Given the description of an element on the screen output the (x, y) to click on. 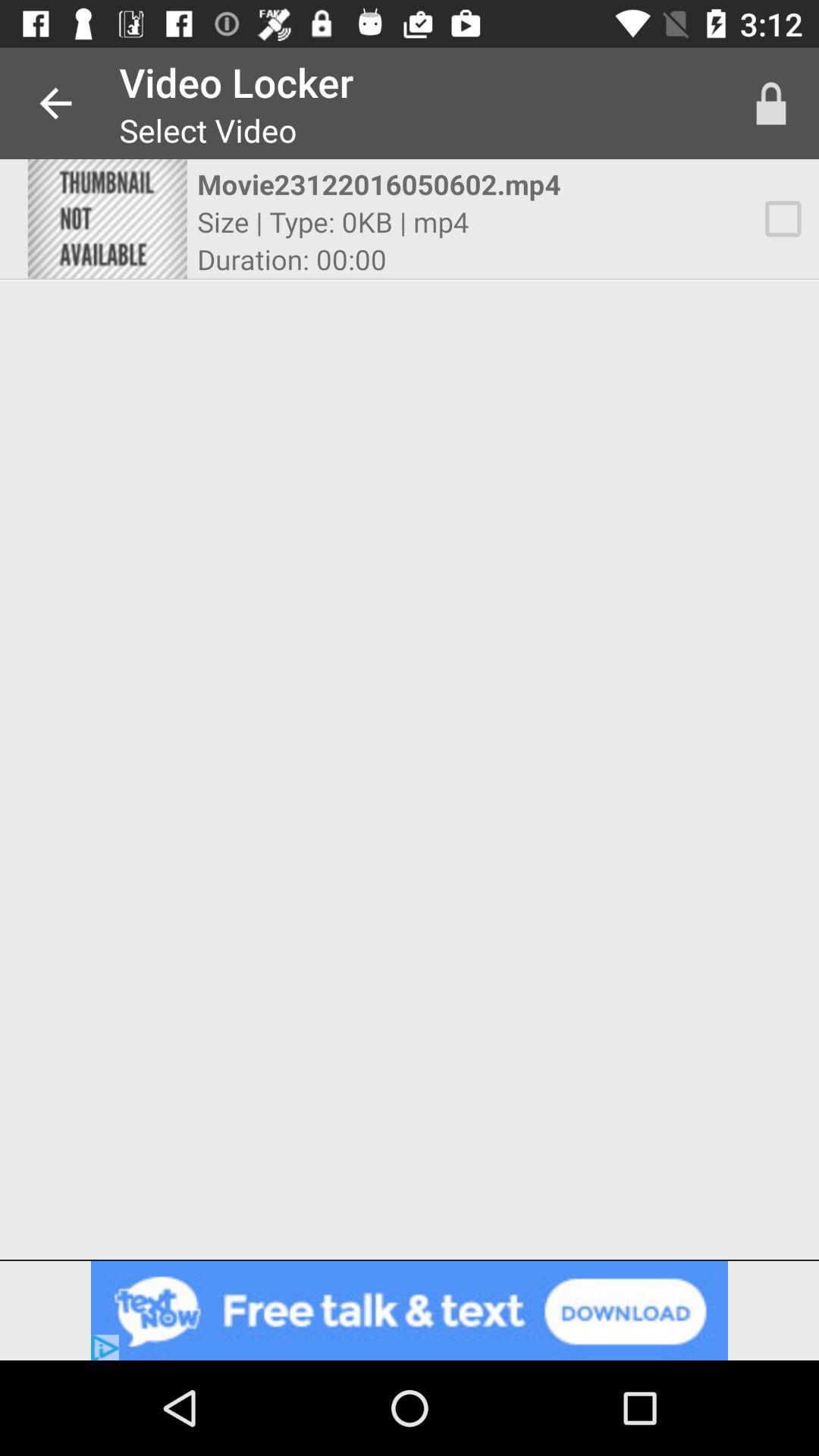
open advertisement landing page (409, 1310)
